Given the description of an element on the screen output the (x, y) to click on. 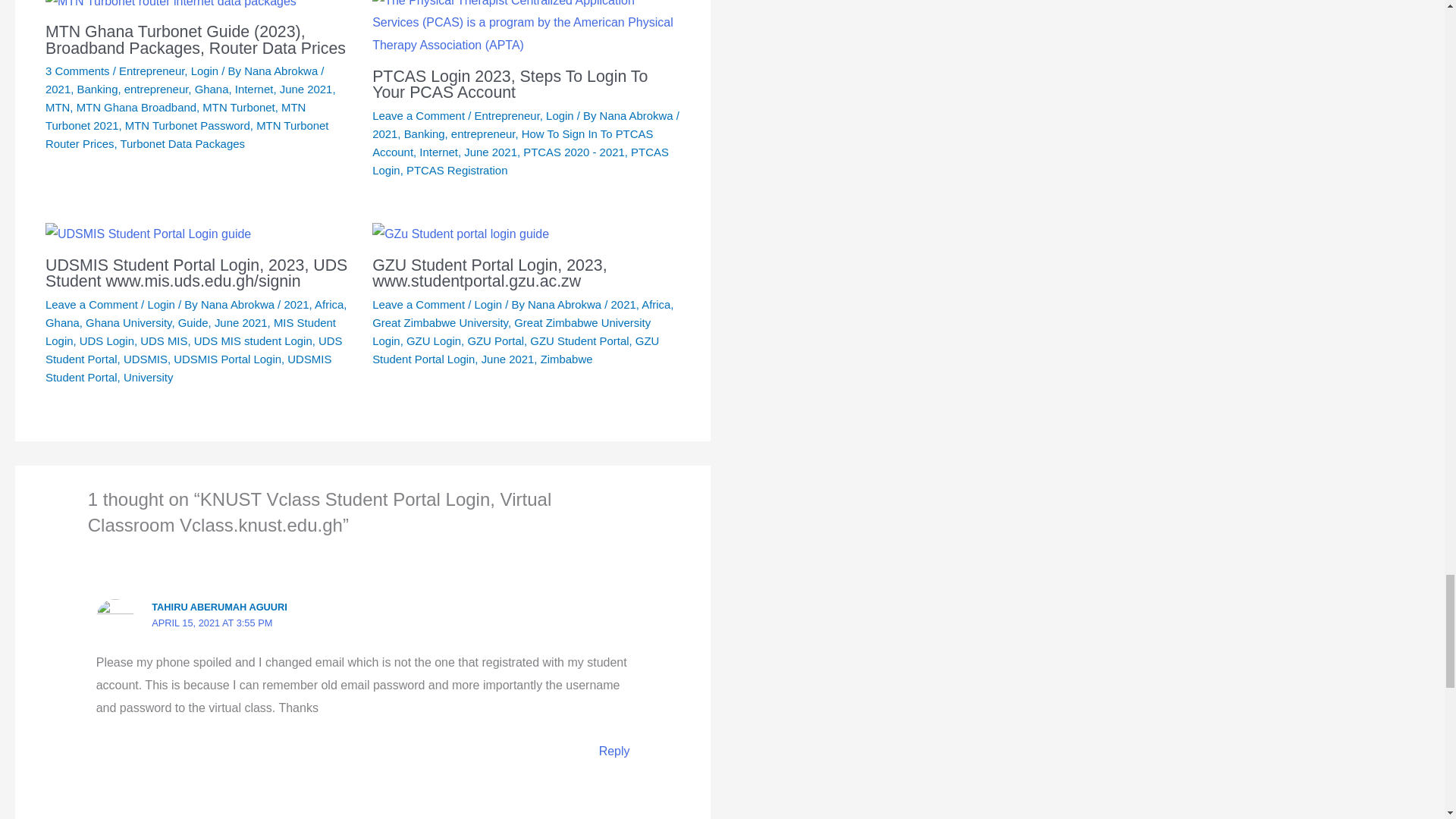
View all posts by Nana Abrokwa (239, 304)
View all posts by Nana Abrokwa (565, 304)
View all posts by Nana Abrokwa (282, 70)
View all posts by Nana Abrokwa (638, 115)
